Given the description of an element on the screen output the (x, y) to click on. 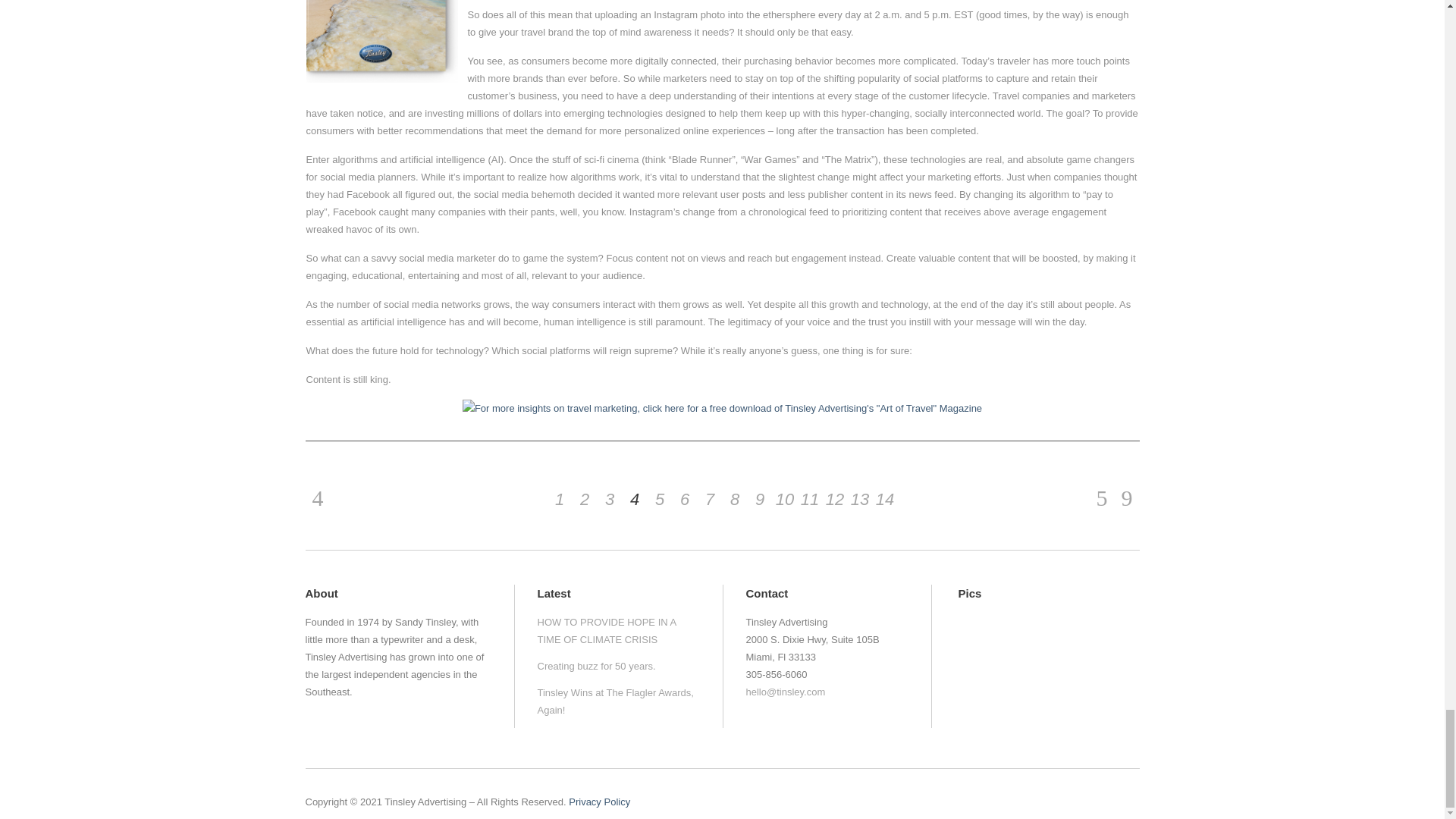
6 (684, 498)
2 (584, 498)
7 (709, 498)
1 (559, 498)
3 (609, 498)
10 (783, 498)
8 (734, 498)
5 (659, 498)
9 (760, 498)
